Given the description of an element on the screen output the (x, y) to click on. 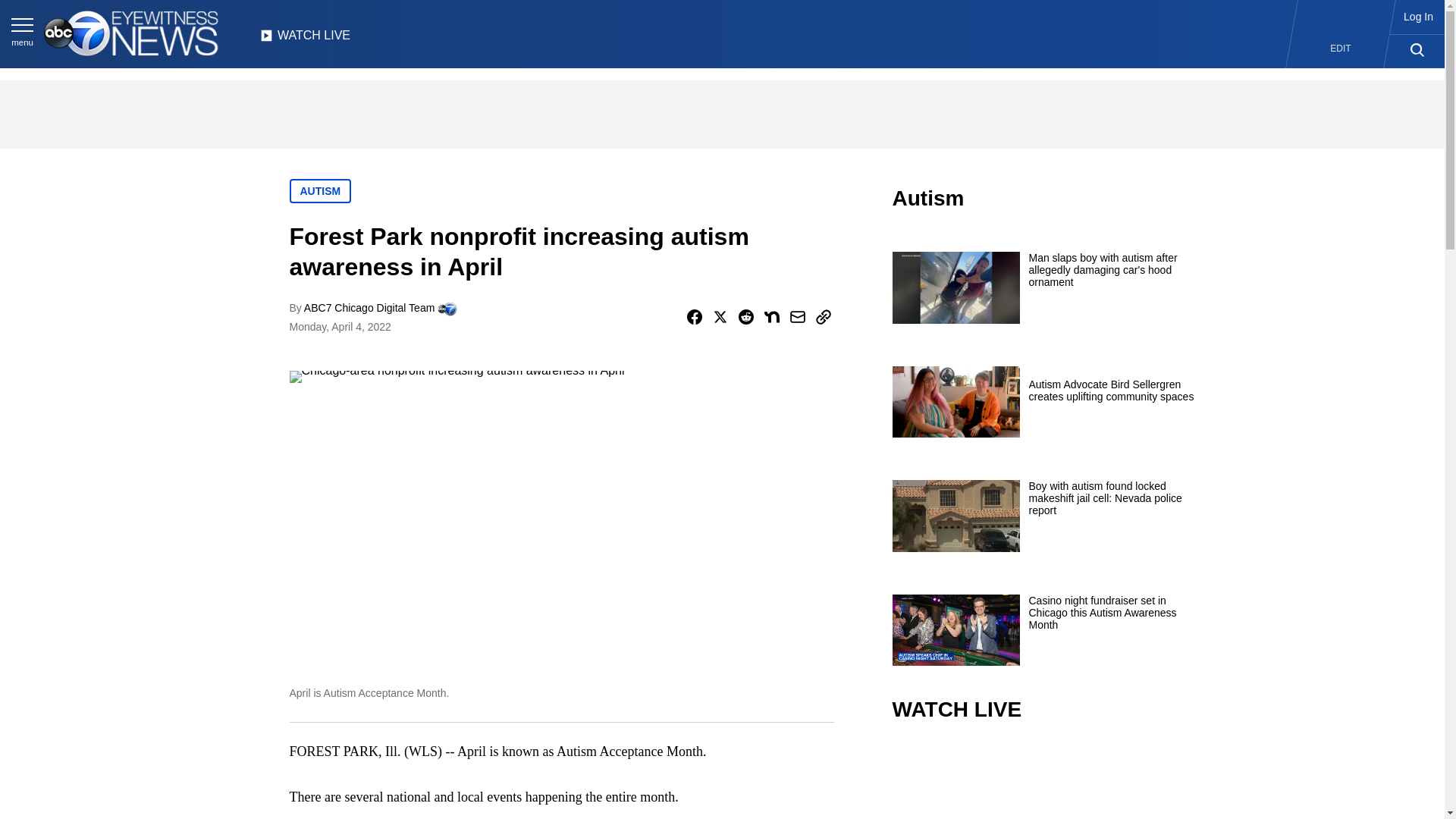
WATCH LIVE (305, 39)
video.title (1043, 781)
EDIT (1340, 48)
